Given the description of an element on the screen output the (x, y) to click on. 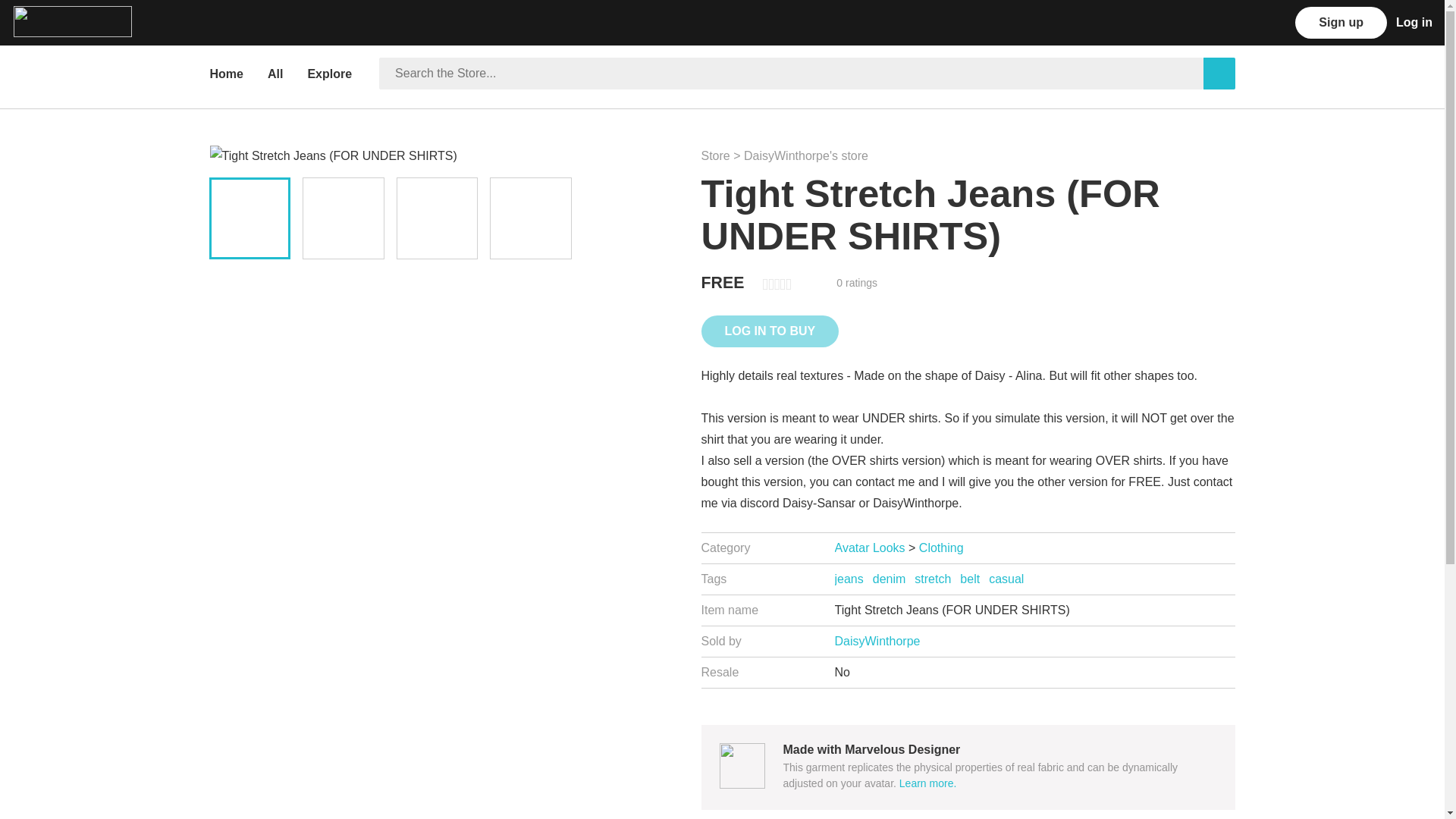
jeans (848, 578)
casual (1005, 578)
Explore (331, 73)
belt (969, 578)
Learn more. (927, 783)
LOG IN TO BUY (769, 331)
Clothing (940, 547)
stretch (932, 578)
denim (888, 578)
Avatar Looks (869, 547)
